Given the description of an element on the screen output the (x, y) to click on. 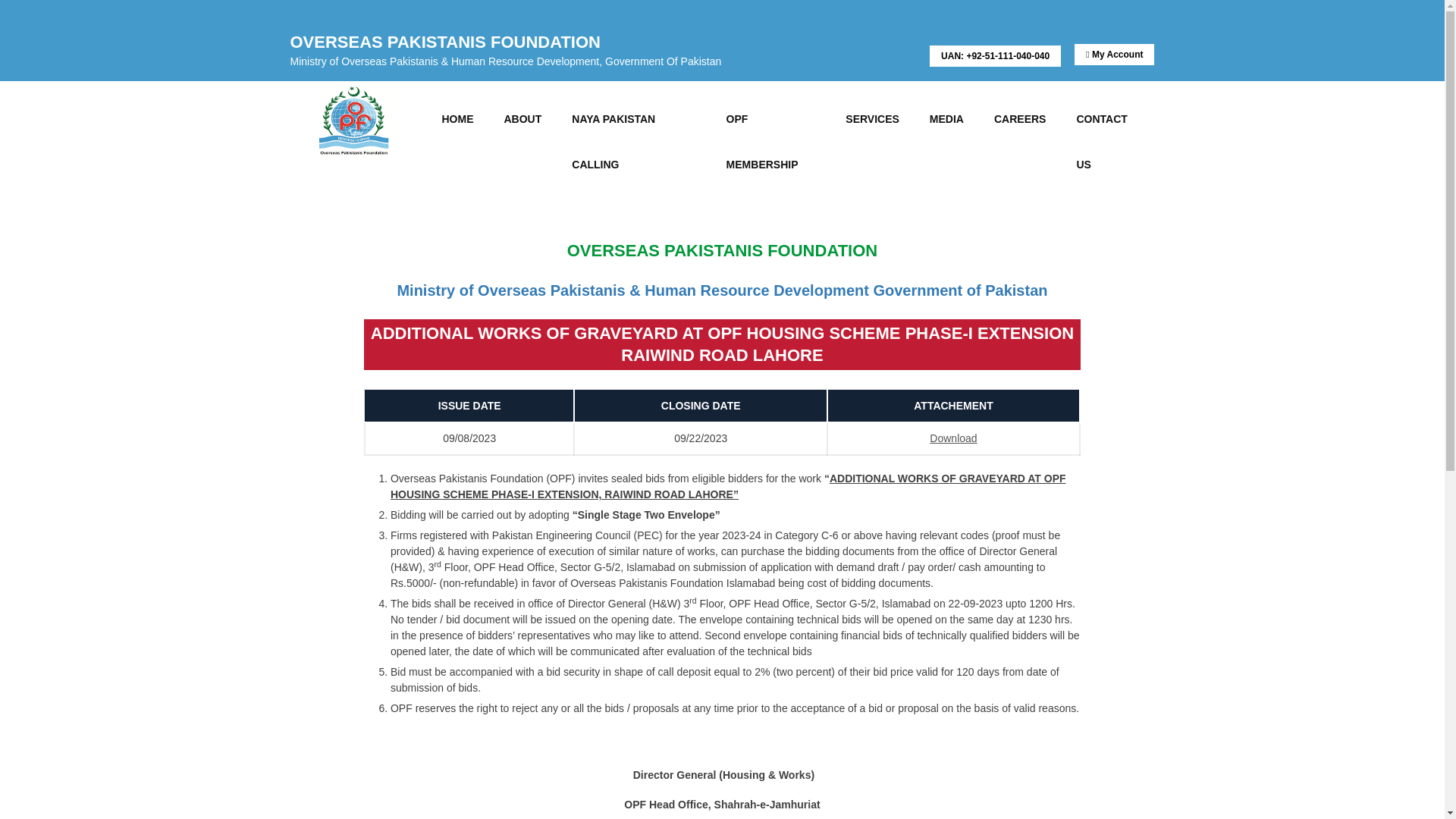
HOME (456, 118)
OVERSEAS PAKISTANIS FOUNDATION (351, 119)
CONTACT US (1107, 118)
MEDIA (946, 118)
My Account (1114, 54)
ABOUT (521, 118)
OPF MEMBERSHIP (771, 118)
CAREERS (1019, 118)
NAYA PAKISTAN CALLING (633, 118)
SERVICES (871, 118)
